Given the description of an element on the screen output the (x, y) to click on. 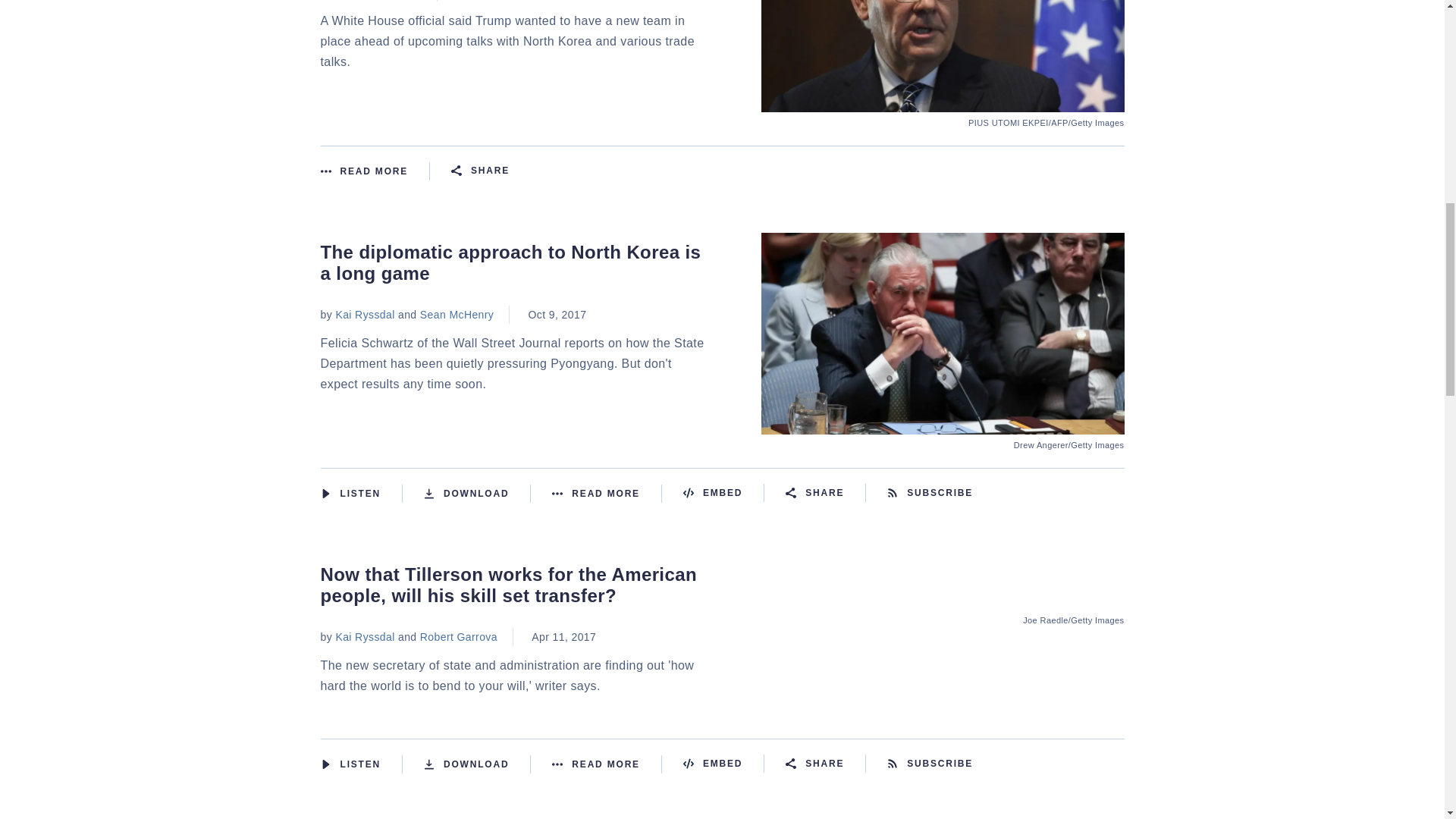
Download (477, 493)
Read More (374, 171)
LISTEN (325, 493)
Read More (606, 493)
Listen Now (360, 493)
The diplomatic approach to North Korea is a long game (942, 424)
